Given the description of an element on the screen output the (x, y) to click on. 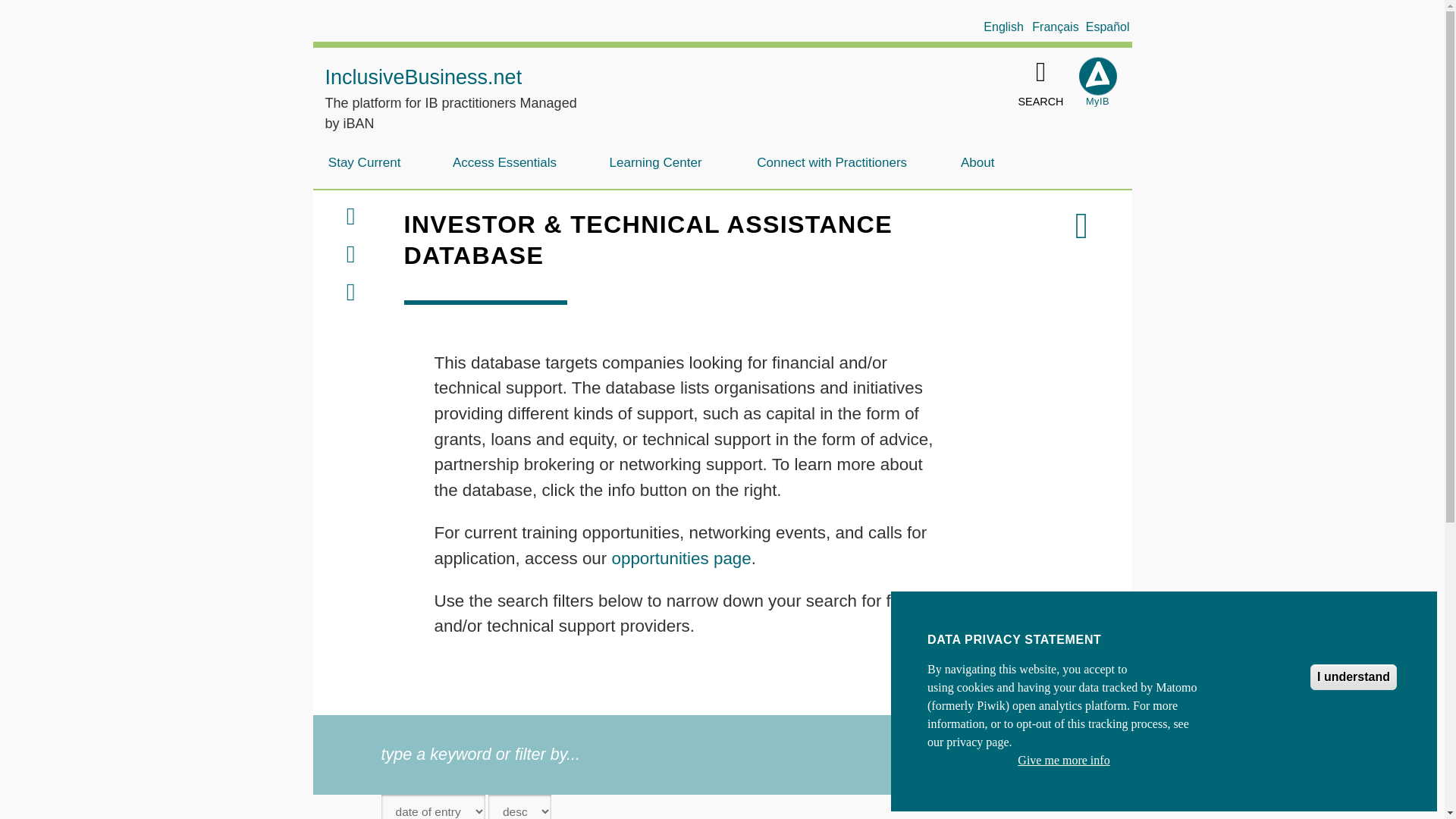
Connect with Practitioners (831, 162)
Learning Center (655, 162)
About (977, 162)
Stay Current (364, 162)
InclusiveBusiness.net (422, 77)
Stay Current (364, 162)
English (1003, 27)
Access Essentials (504, 162)
Access Essentials (504, 162)
Connect with Practitioners (831, 162)
